Given the description of an element on the screen output the (x, y) to click on. 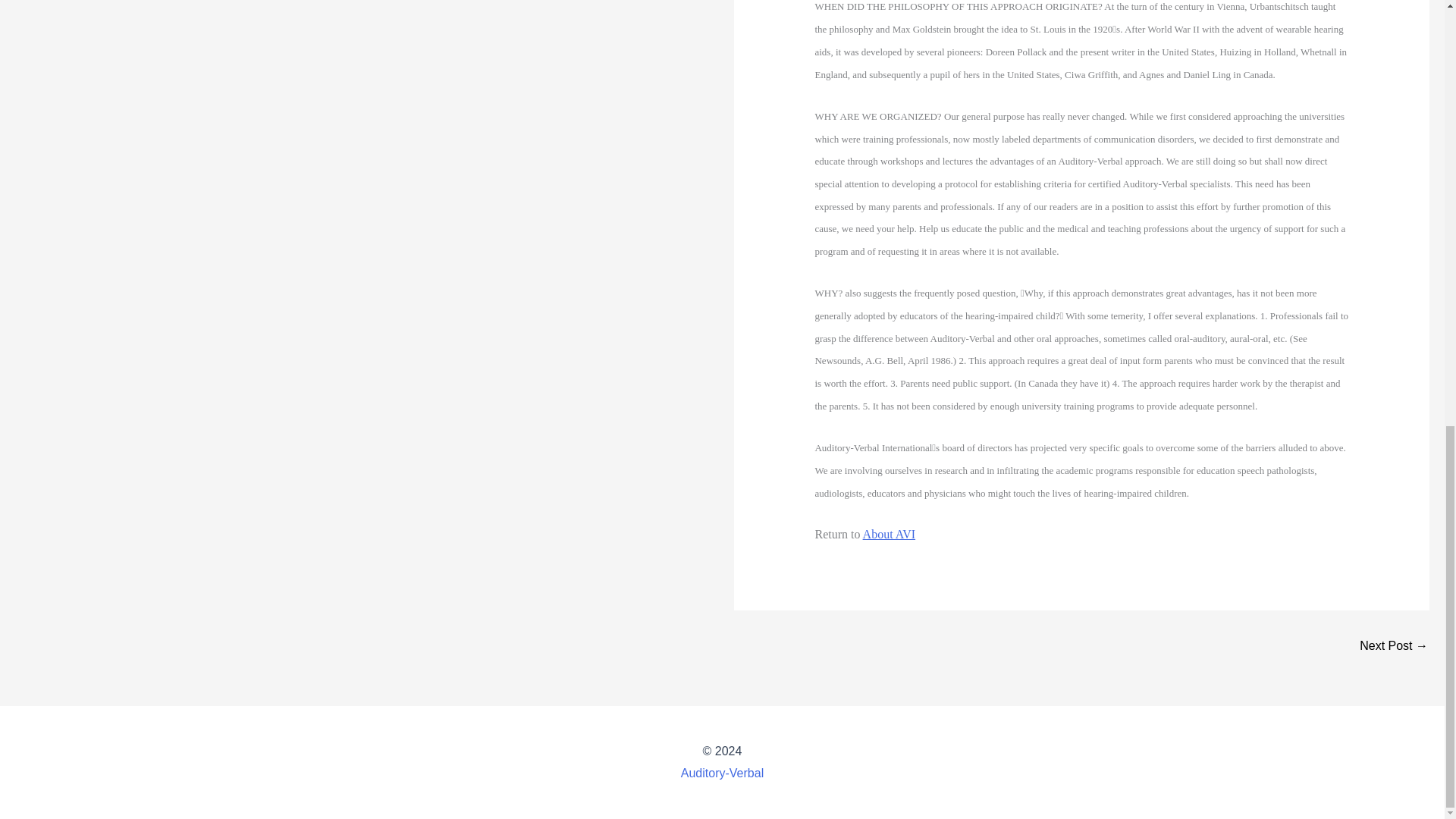
Auditory-Verbal (721, 772)
Tag Archives: care-giving (1393, 645)
About AVI (889, 533)
